Given the description of an element on the screen output the (x, y) to click on. 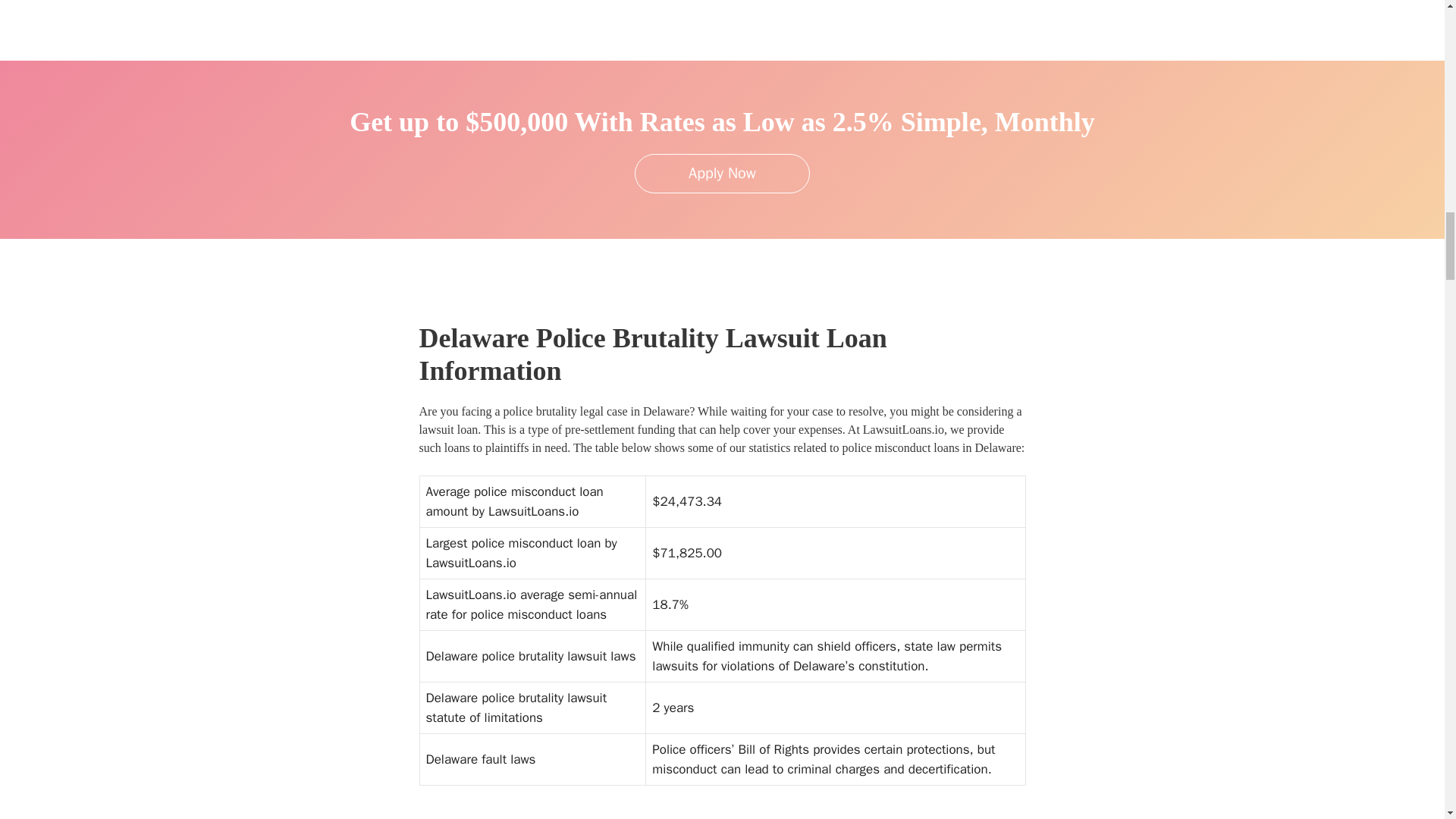
Apply Now (721, 173)
